Given the description of an element on the screen output the (x, y) to click on. 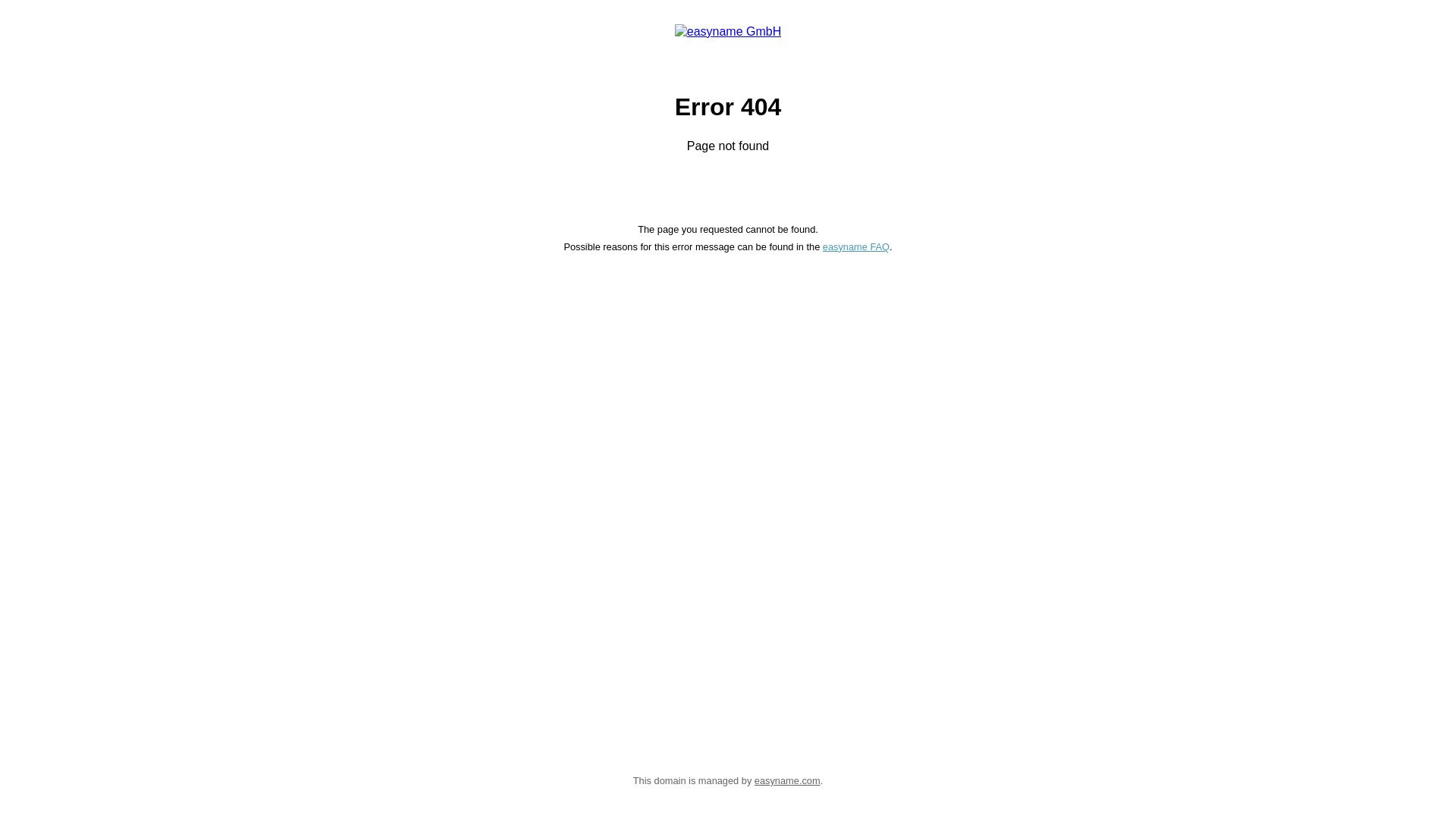
easyname FAQ Element type: text (855, 246)
easyname GmbH Element type: hover (727, 37)
easyname.com Element type: text (787, 780)
